Given the description of an element on the screen output the (x, y) to click on. 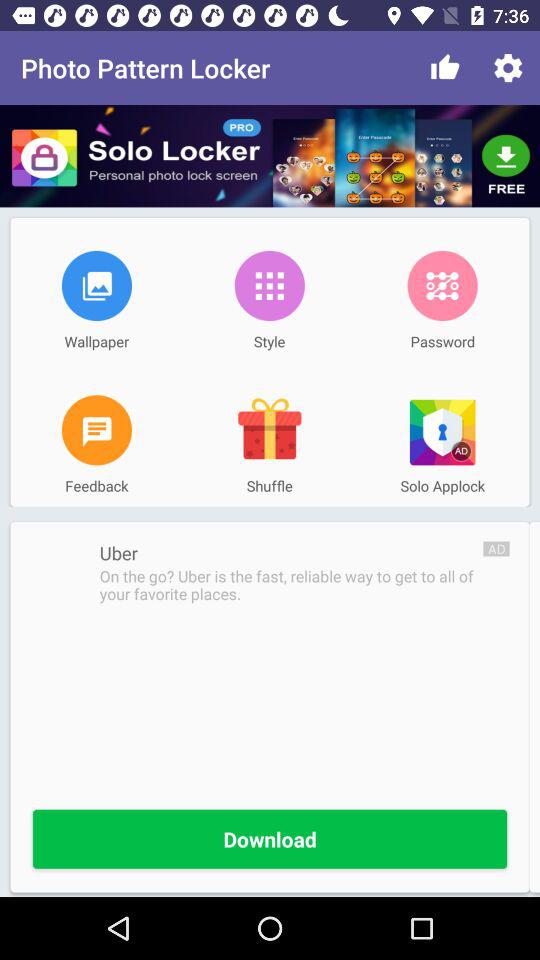
select the icon next to wallpaper item (269, 285)
